Given the description of an element on the screen output the (x, y) to click on. 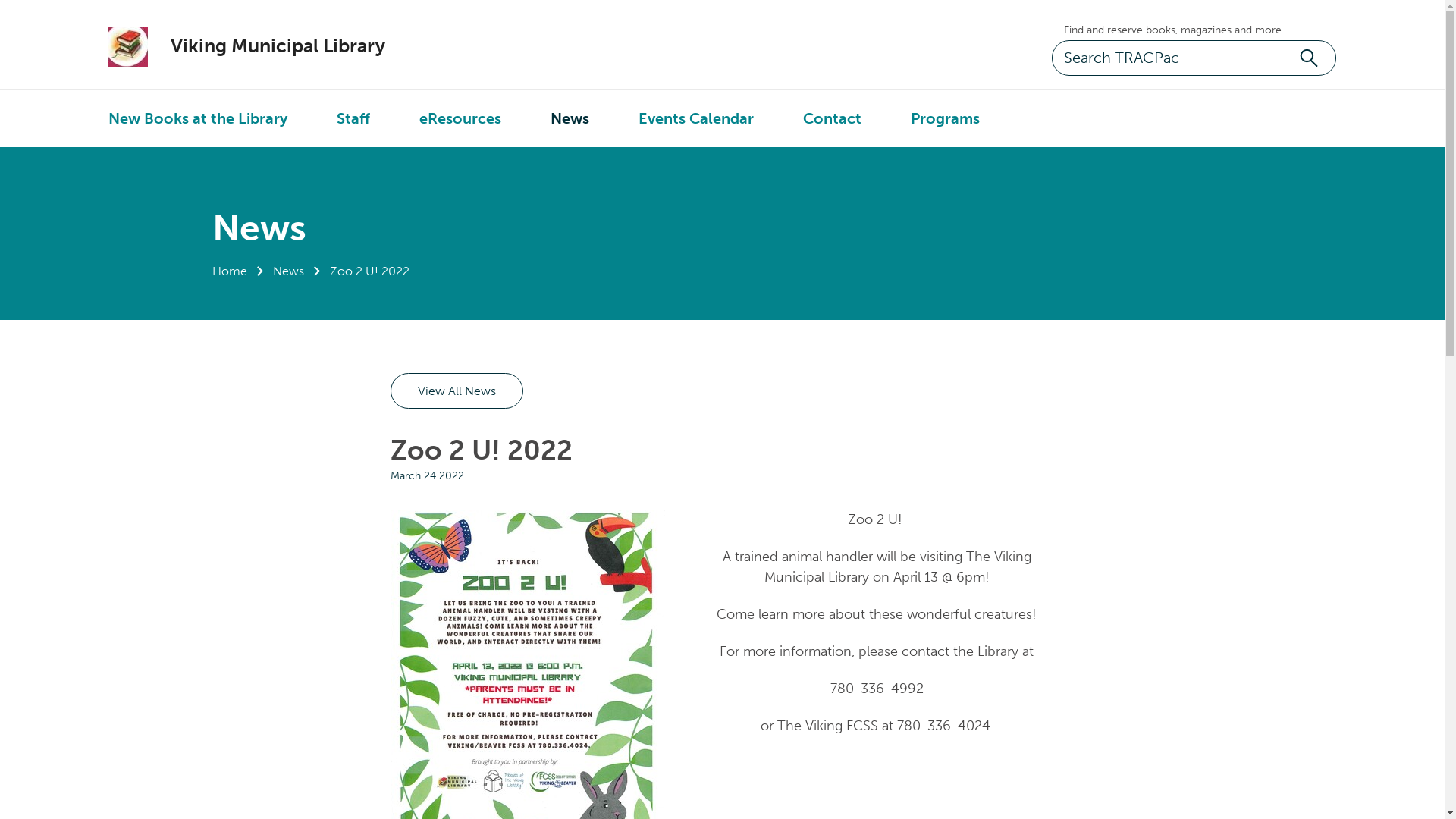
Events Calendar Element type: text (695, 118)
View All News Element type: text (456, 390)
Viking Municipal Library Element type: text (261, 45)
Programs Element type: text (944, 118)
News Element type: text (288, 270)
Contact Element type: text (832, 118)
eResources Element type: text (460, 118)
New Books at the Library Element type: text (197, 118)
Staff Element type: text (353, 118)
News Element type: text (569, 118)
Home Element type: text (229, 270)
